Given the description of an element on the screen output the (x, y) to click on. 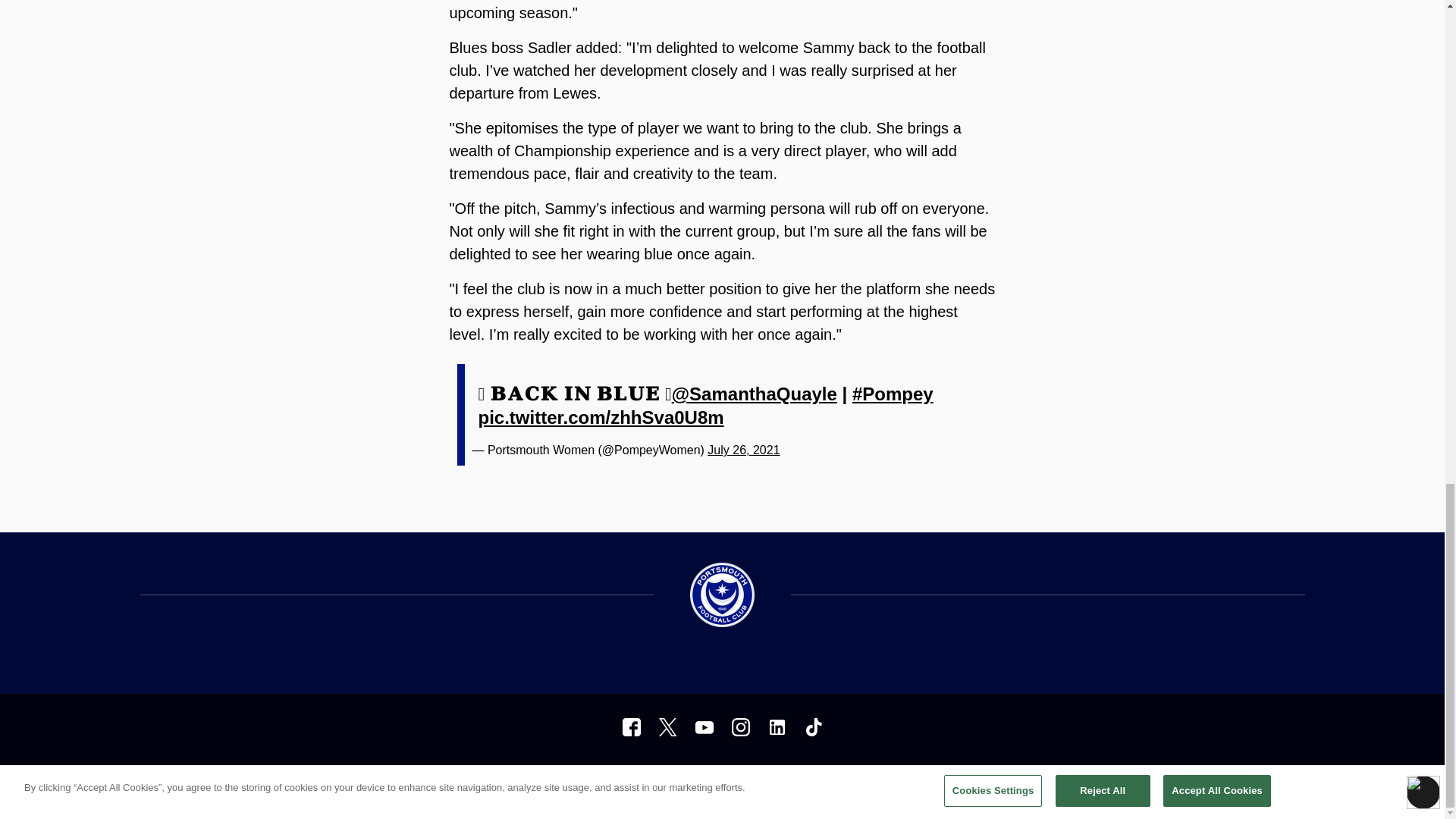
Contact Us (737, 779)
Contact Us (737, 779)
Accessibility (583, 779)
Accessibility (583, 779)
Privacy Policy (512, 779)
portsmouth-football-club (776, 727)
Company Details (662, 779)
officialpfc (630, 727)
Brand Protection (811, 779)
Privacy Policy (512, 779)
